Given the description of an element on the screen output the (x, y) to click on. 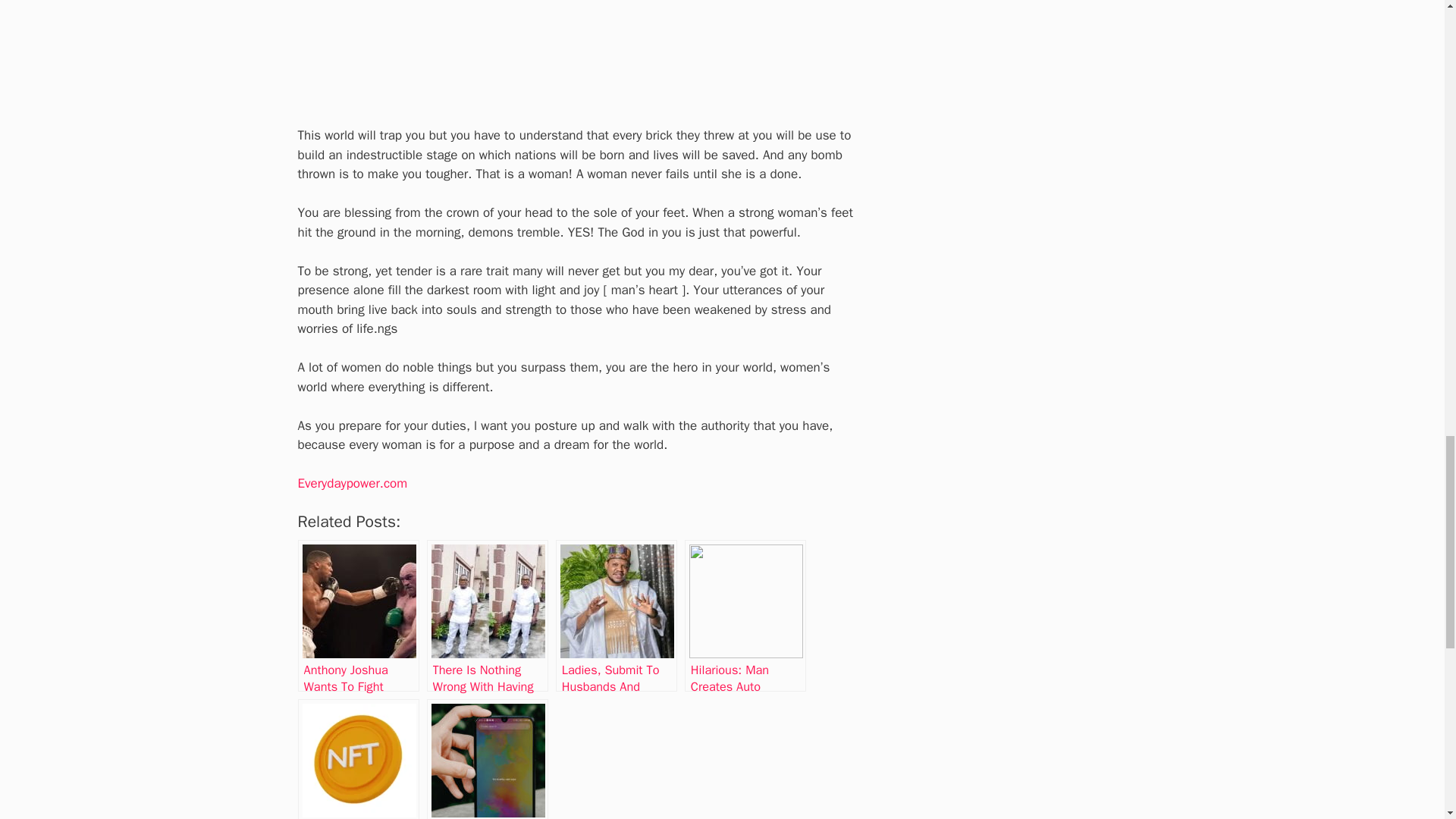
Ladies, Submit To Husbands And Honor Their Sacrifice (616, 615)
Anthony Joshua Wants To Fight Tyson Fury (358, 615)
Anthony Joshua Wants To Fight Tyson Fury (358, 615)
Everydaypower.com (352, 483)
Ladies, Submit To Husbands And Honor Their Sacrifice (616, 615)
5 Top NFT Games 2022 (358, 759)
5 Top NFT Games 2022 (358, 759)
